Given the description of an element on the screen output the (x, y) to click on. 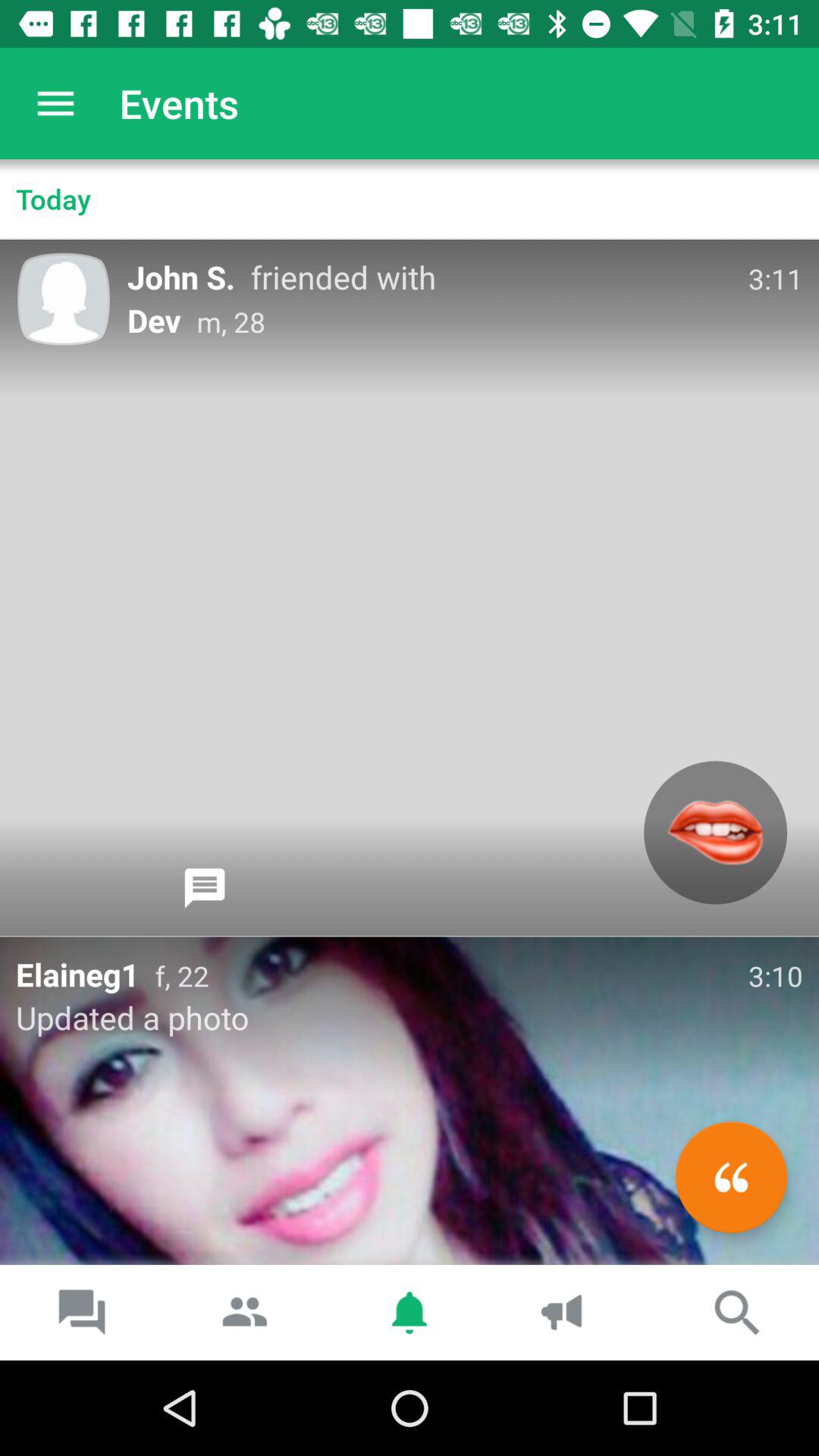
chat (204, 888)
